Given the description of an element on the screen output the (x, y) to click on. 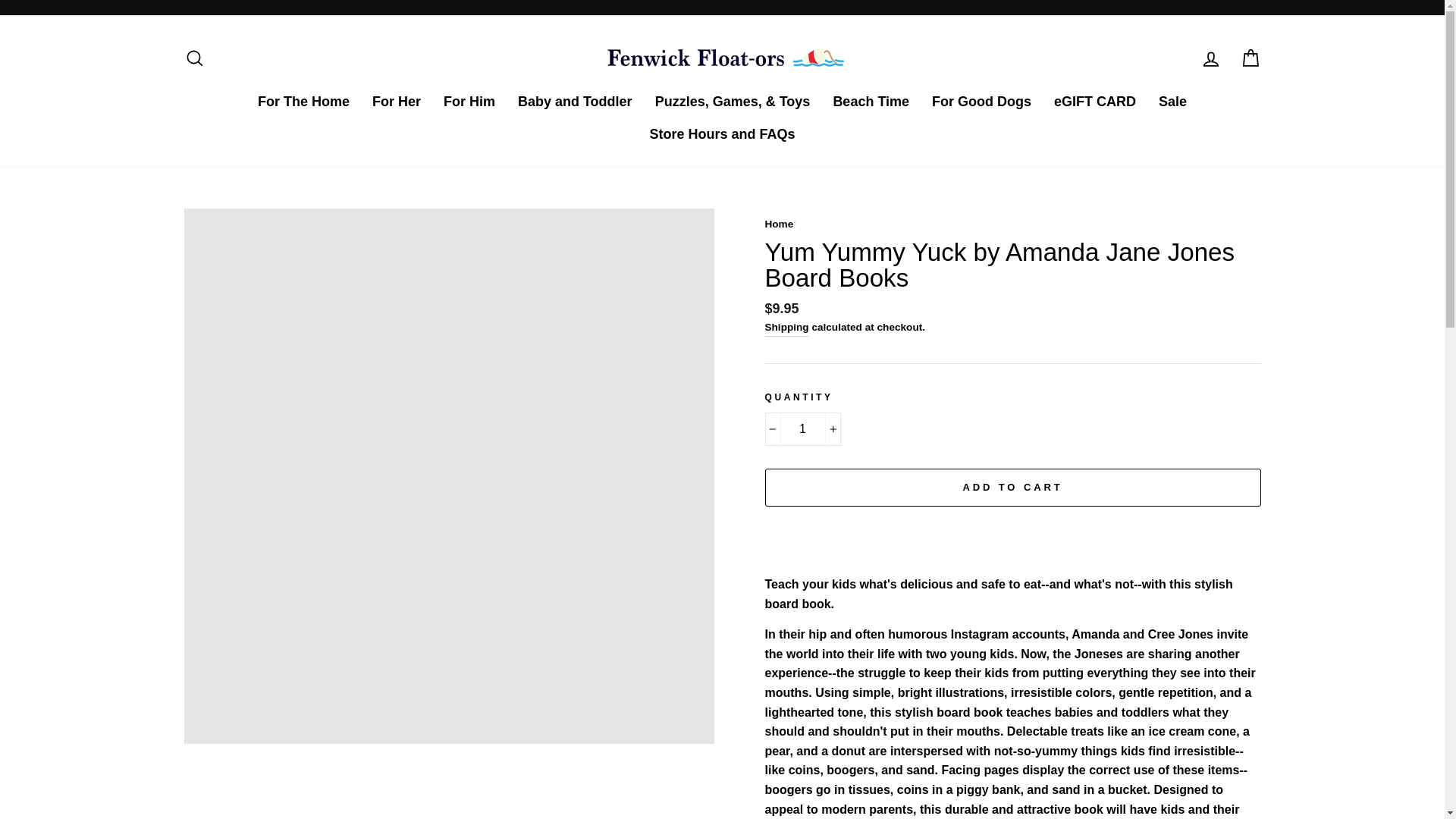
1 (802, 428)
Back to the frontpage (778, 224)
